Given the description of an element on the screen output the (x, y) to click on. 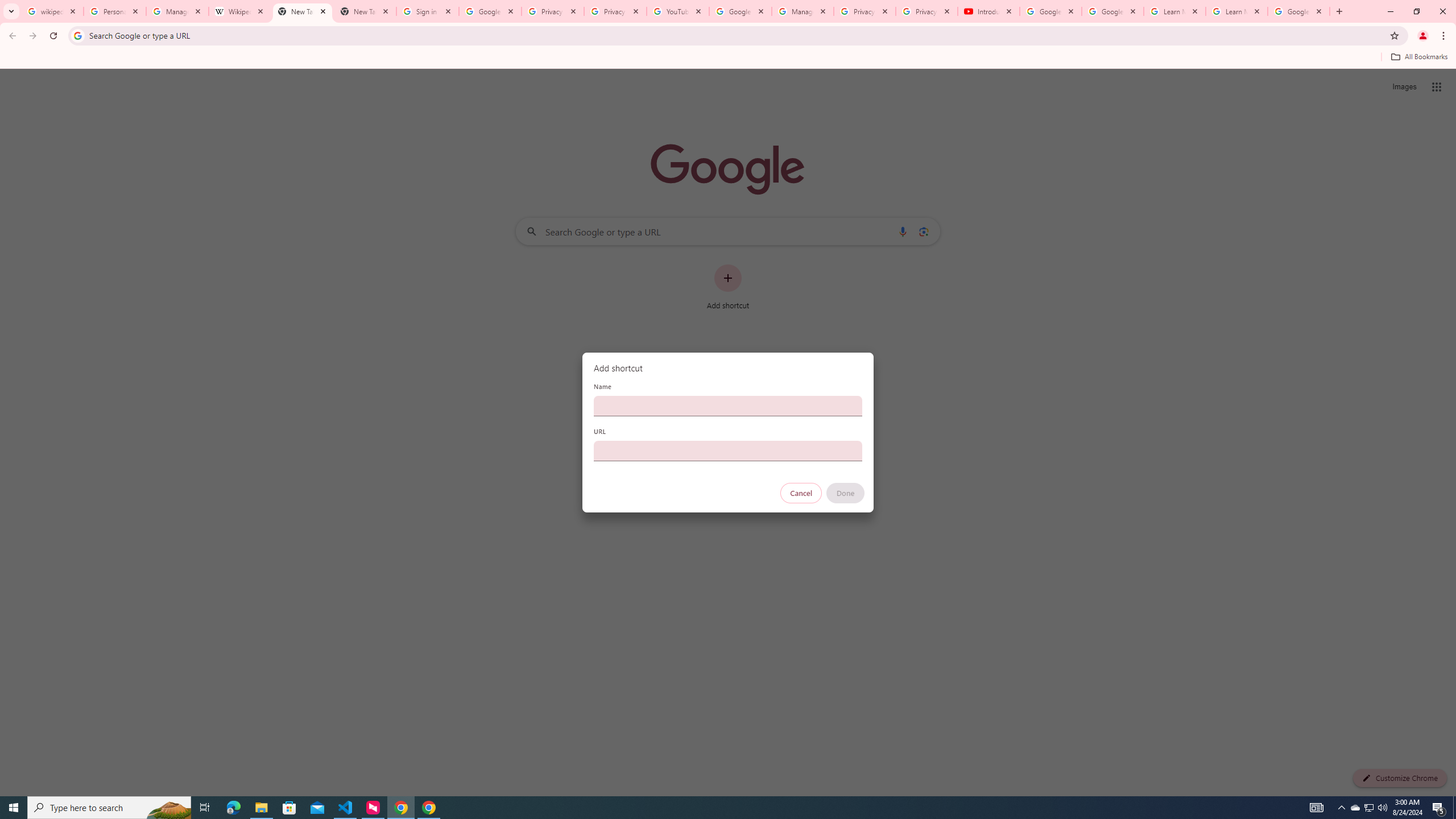
Cancel (801, 493)
Sign in - Google Accounts (427, 11)
Google Drive: Sign-in (490, 11)
Manage your Location History - Google Search Help (177, 11)
